Given the description of an element on the screen output the (x, y) to click on. 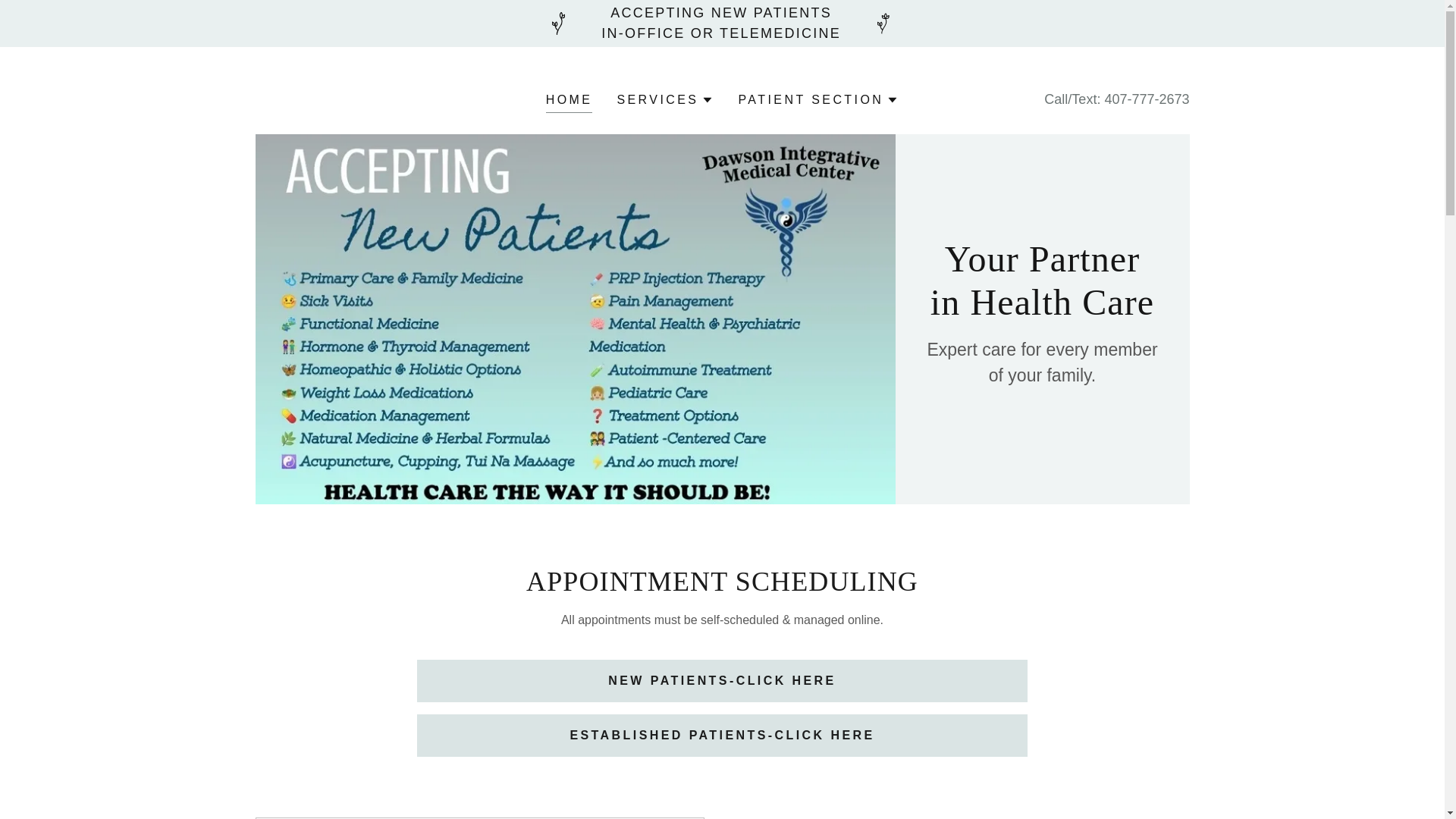
SERVICES (664, 99)
HOME (569, 101)
PATIENT SECTION (818, 99)
